Given the description of an element on the screen output the (x, y) to click on. 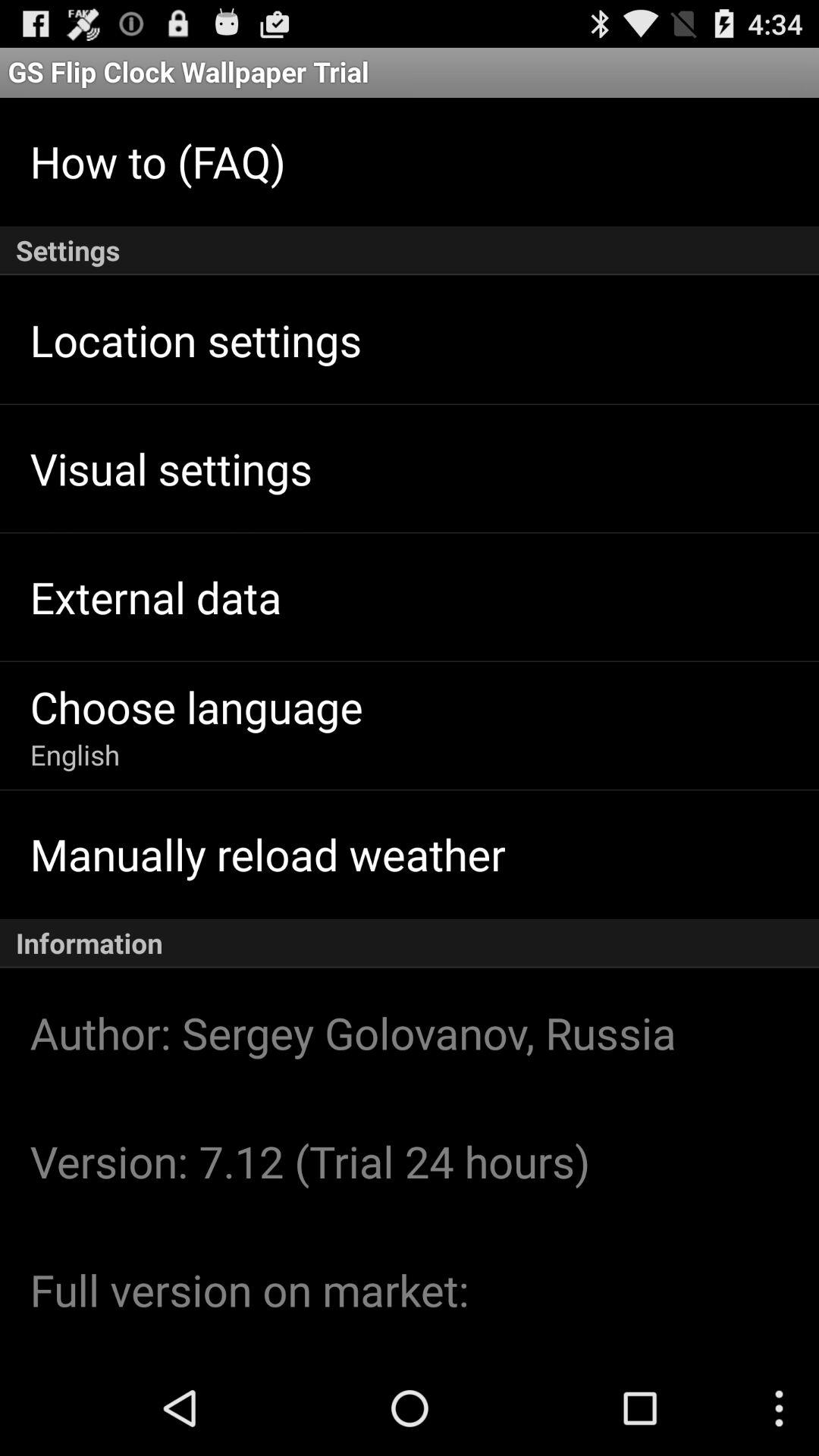
turn on information app (409, 943)
